Given the description of an element on the screen output the (x, y) to click on. 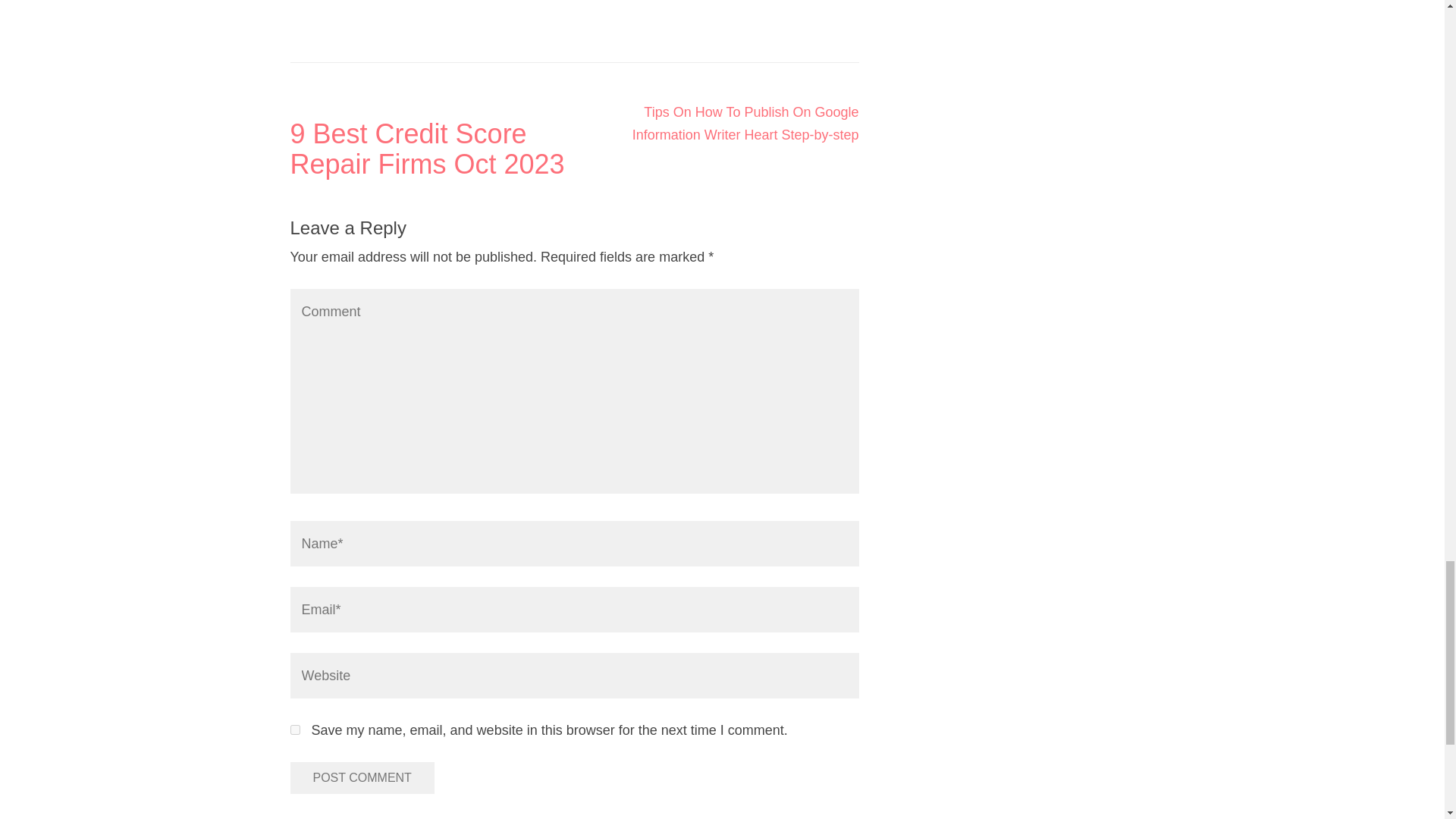
9 Best Credit Score Repair Firms Oct 2023 (431, 148)
Post Comment (361, 777)
yes (294, 729)
Post Comment (361, 777)
